Given the description of an element on the screen output the (x, y) to click on. 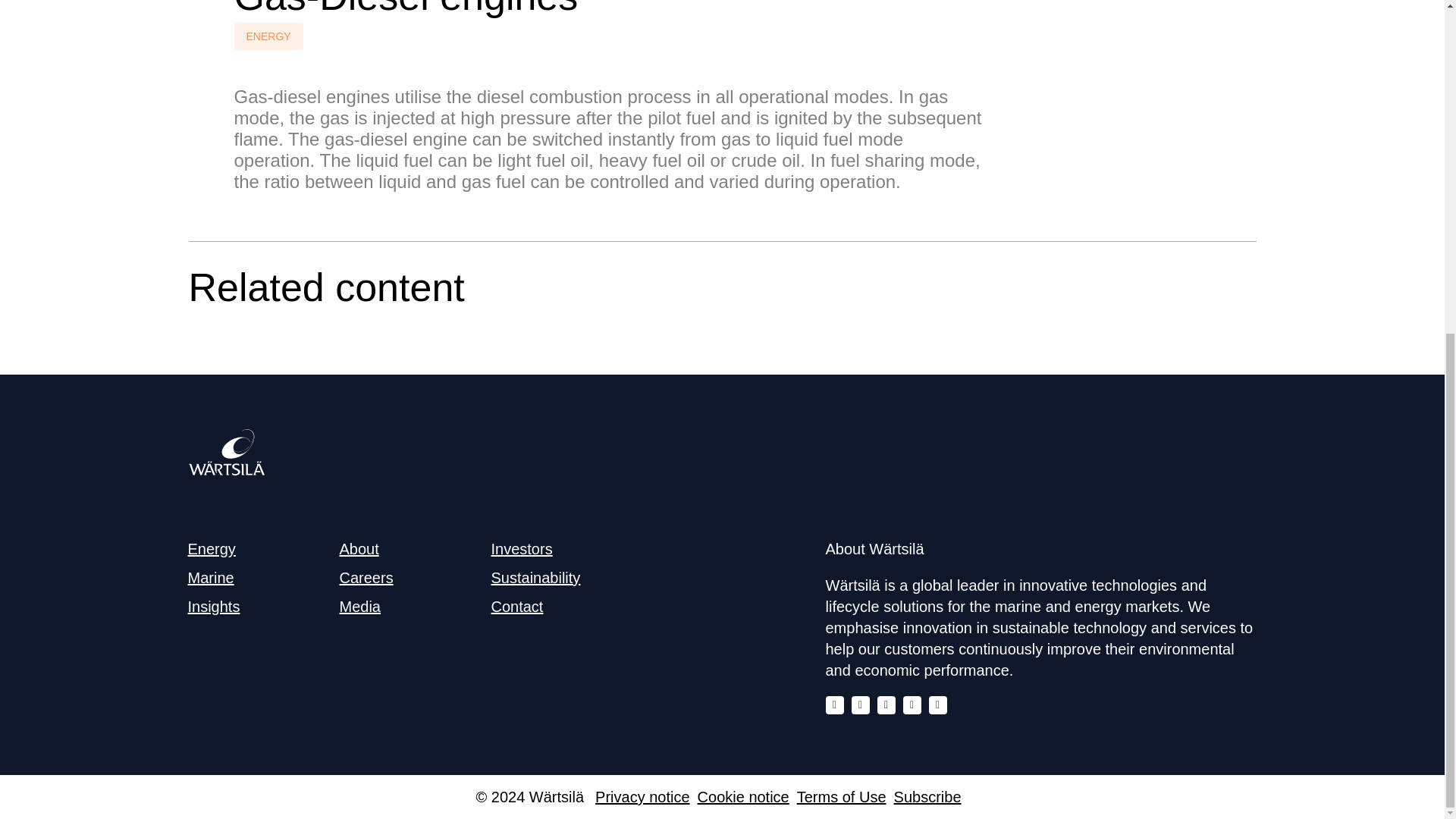
Marine (210, 577)
Insights (213, 606)
Energy (211, 548)
